Given the description of an element on the screen output the (x, y) to click on. 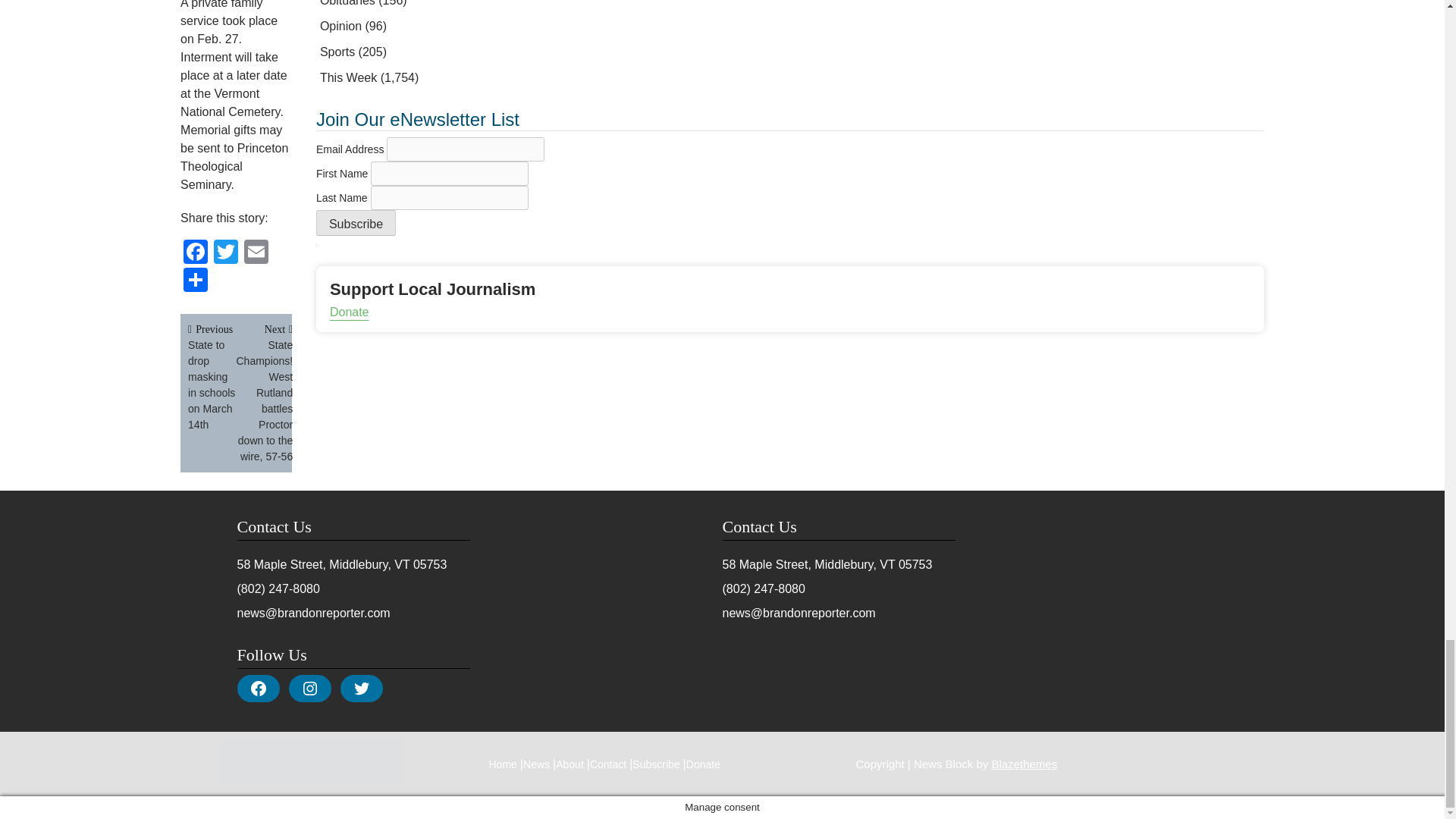
Email (255, 253)
Subscribe (355, 222)
Twitter (226, 253)
Facebook (195, 253)
